Given the description of an element on the screen output the (x, y) to click on. 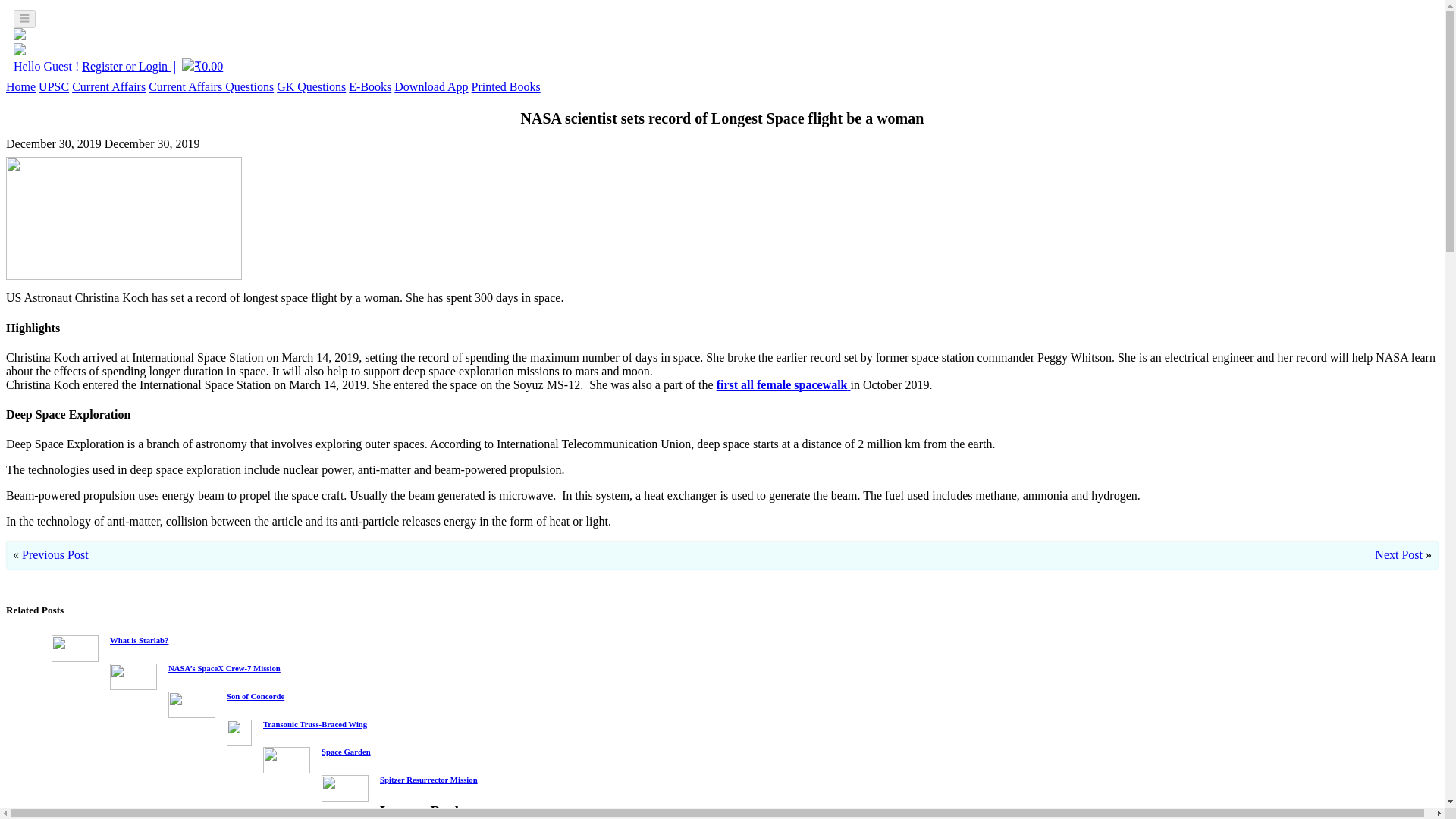
Home (19, 86)
Space Garden (346, 750)
Previous Post (54, 554)
UPSC (53, 86)
Current Affairs Questions (210, 86)
Transonic Truss-Braced Wing (314, 723)
Next Post (1398, 554)
E-Books (370, 86)
Current Affairs (108, 86)
Printed Books (505, 86)
GK Questions (311, 86)
Son of Concorde (255, 696)
What is Starlab? (139, 639)
Space Garden (346, 750)
Register or Login (125, 65)
